Given the description of an element on the screen output the (x, y) to click on. 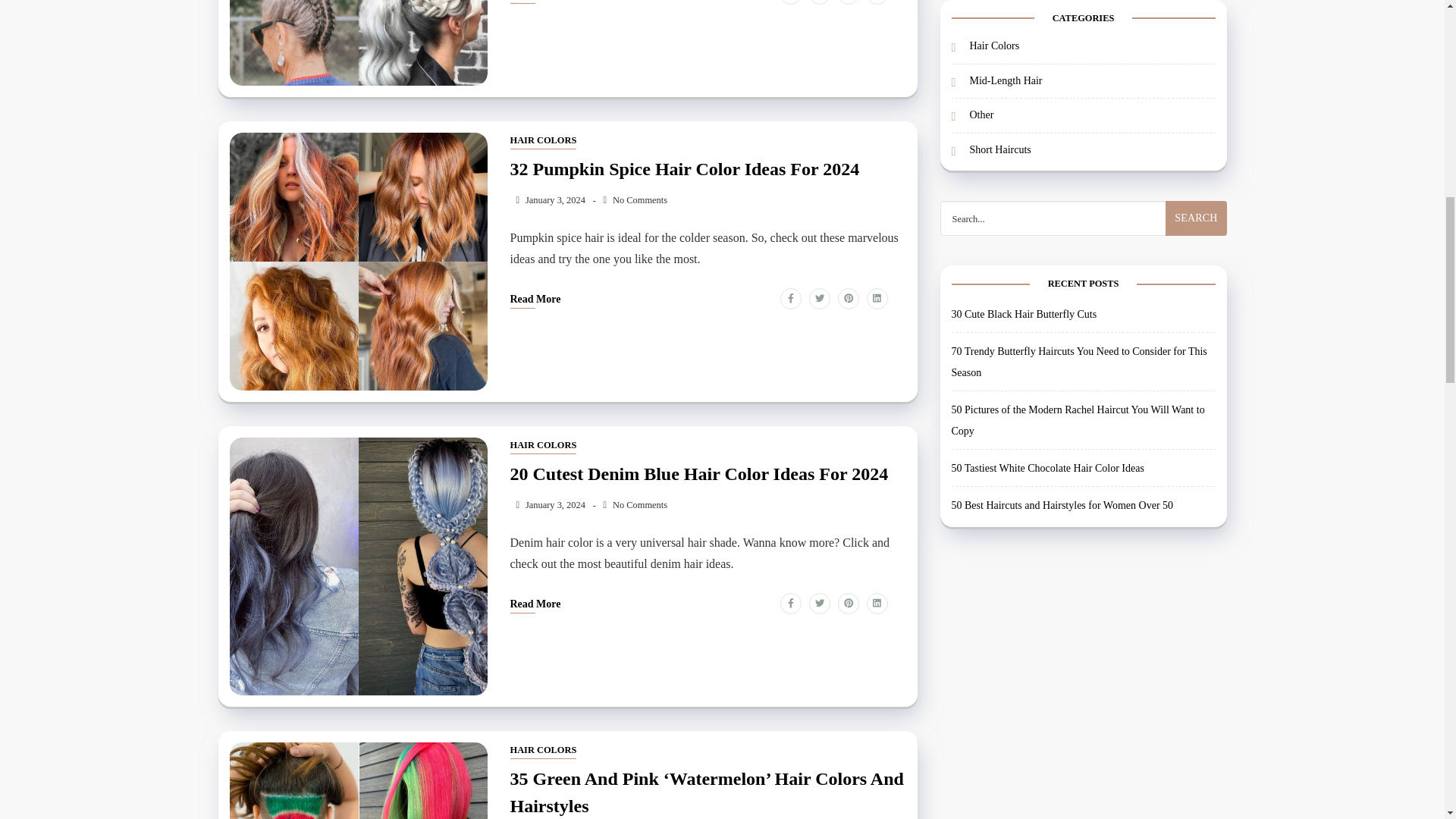
HAIR COLORS (542, 140)
32 Pumpkin Spice Hair Color Ideas For 2024 (707, 170)
Read More (534, 2)
January 3, 2024 (547, 199)
